Given the description of an element on the screen output the (x, y) to click on. 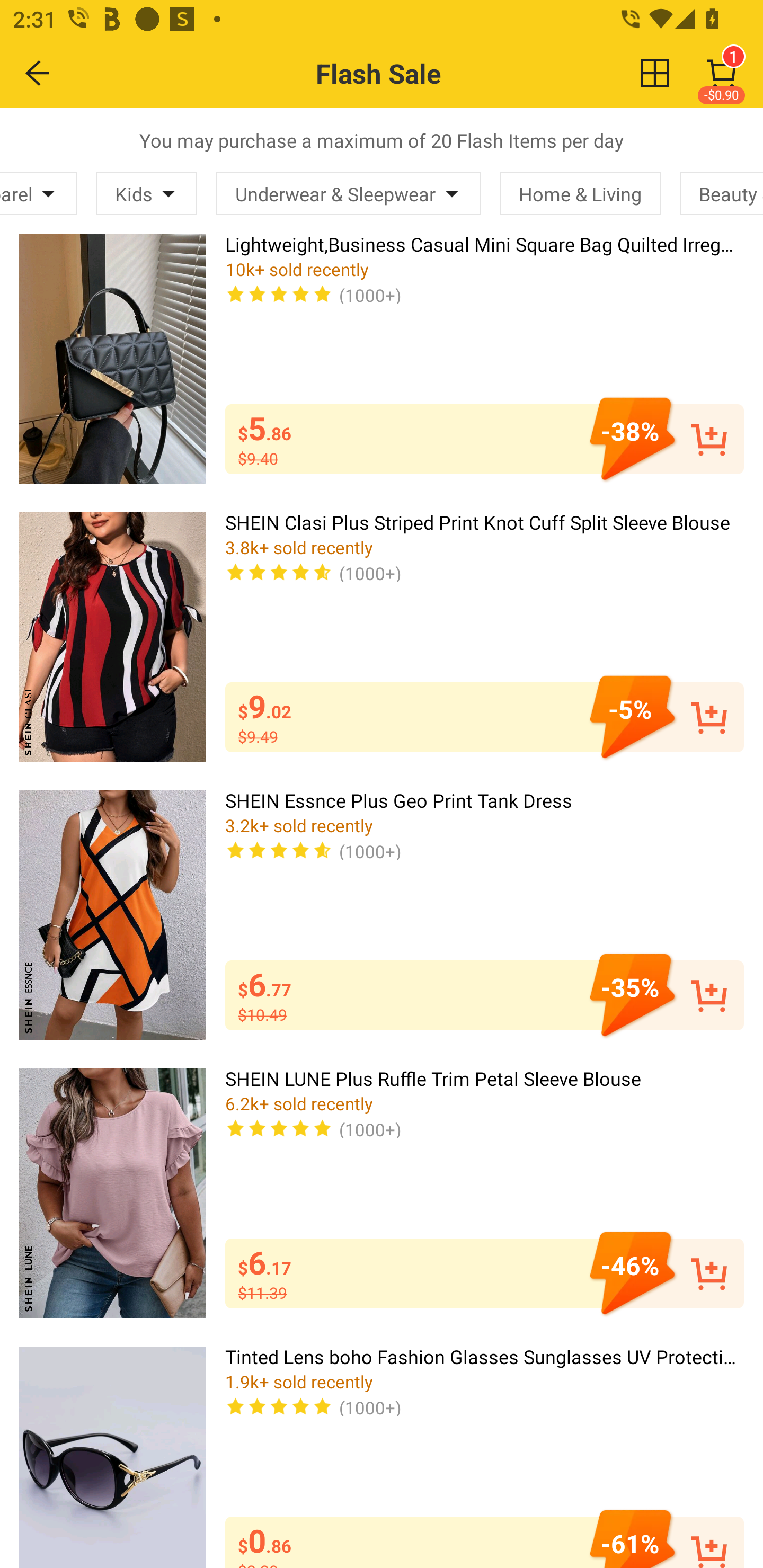
Flash Sale change view 1 -$0.90 (419, 72)
1 -$0.90 (721, 72)
change view (654, 72)
BACK (38, 72)
Men Apparel (38, 193)
Kids (146, 193)
Underwear & Sleepwear (347, 193)
Home & Living (579, 193)
SHEIN Essnce Plus Geo Print Tank Dress (112, 914)
SHEIN LUNE Plus Ruffle Trim Petal Sleeve Blouse (112, 1192)
